Given the description of an element on the screen output the (x, y) to click on. 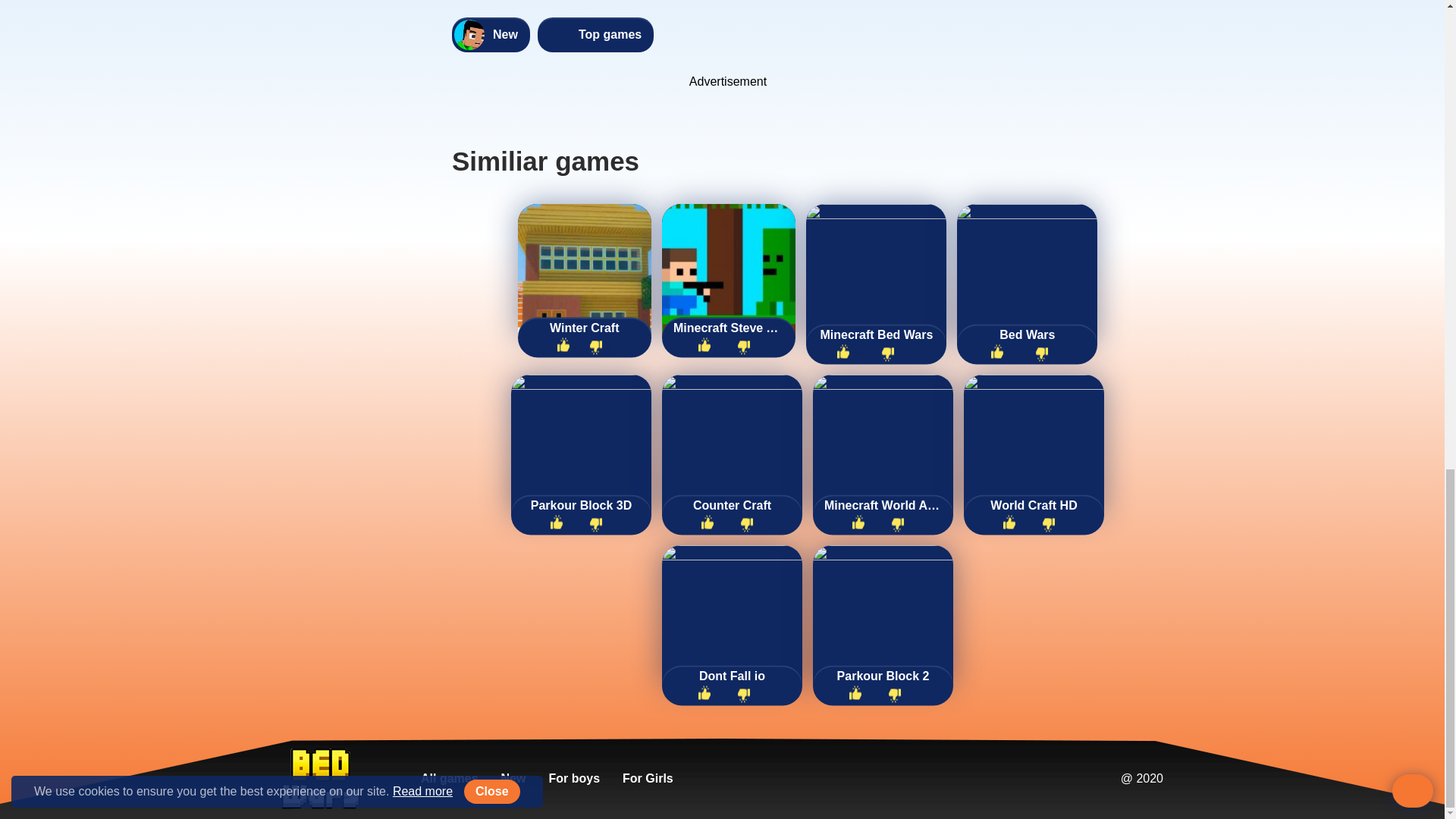
Winter Craft (584, 328)
Counter Craft (731, 504)
New (490, 34)
Minecraft World Adventure (883, 504)
Bed Wars (1027, 334)
Minecraft Steve Adventures (728, 328)
Winter Craft (584, 328)
6 (568, 346)
Top games (595, 34)
Minecraft Bed Wars (875, 334)
